Given the description of an element on the screen output the (x, y) to click on. 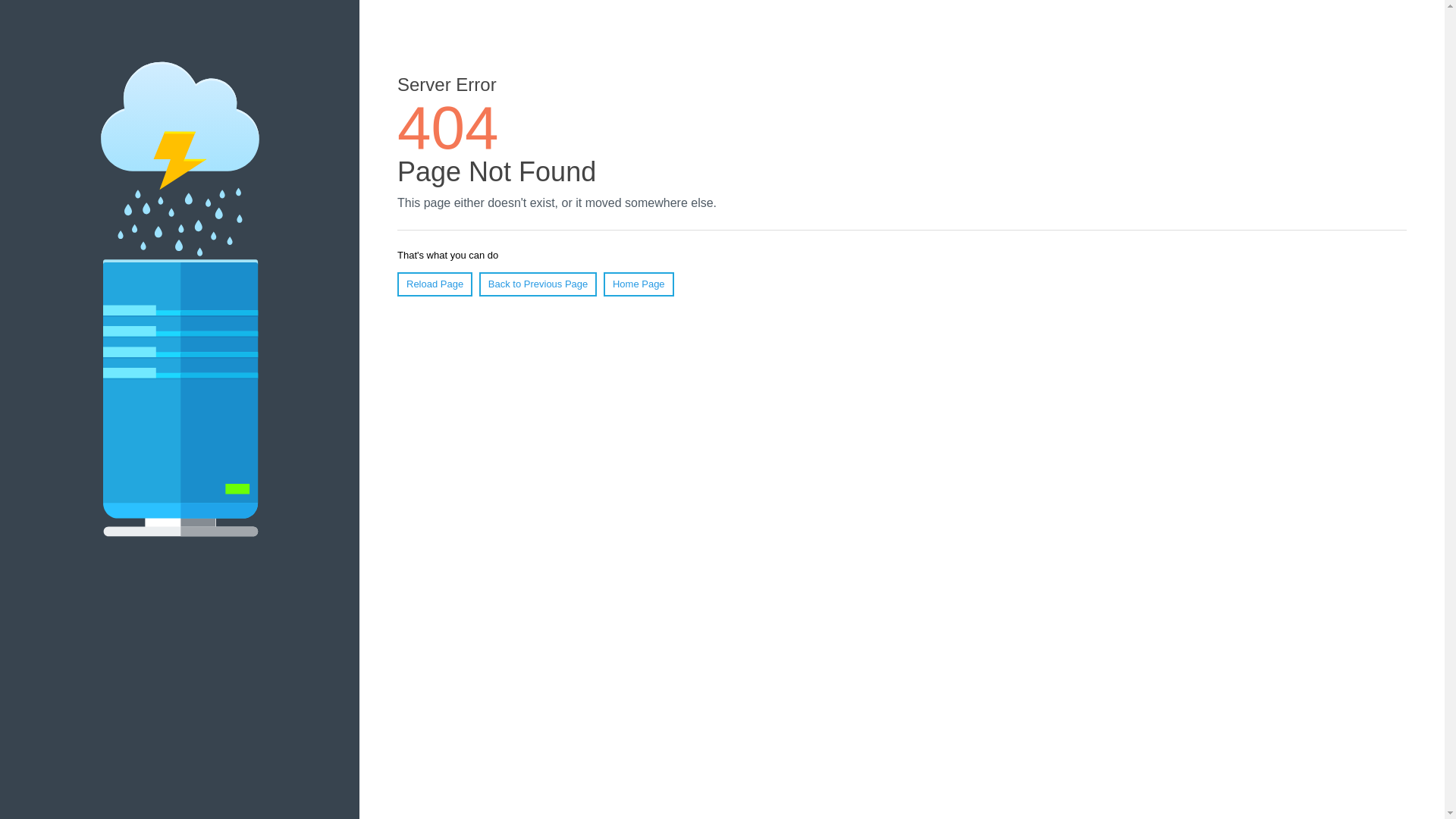
Back to Previous Page Element type: text (538, 284)
Home Page Element type: text (638, 284)
Reload Page Element type: text (434, 284)
